Given the description of an element on the screen output the (x, y) to click on. 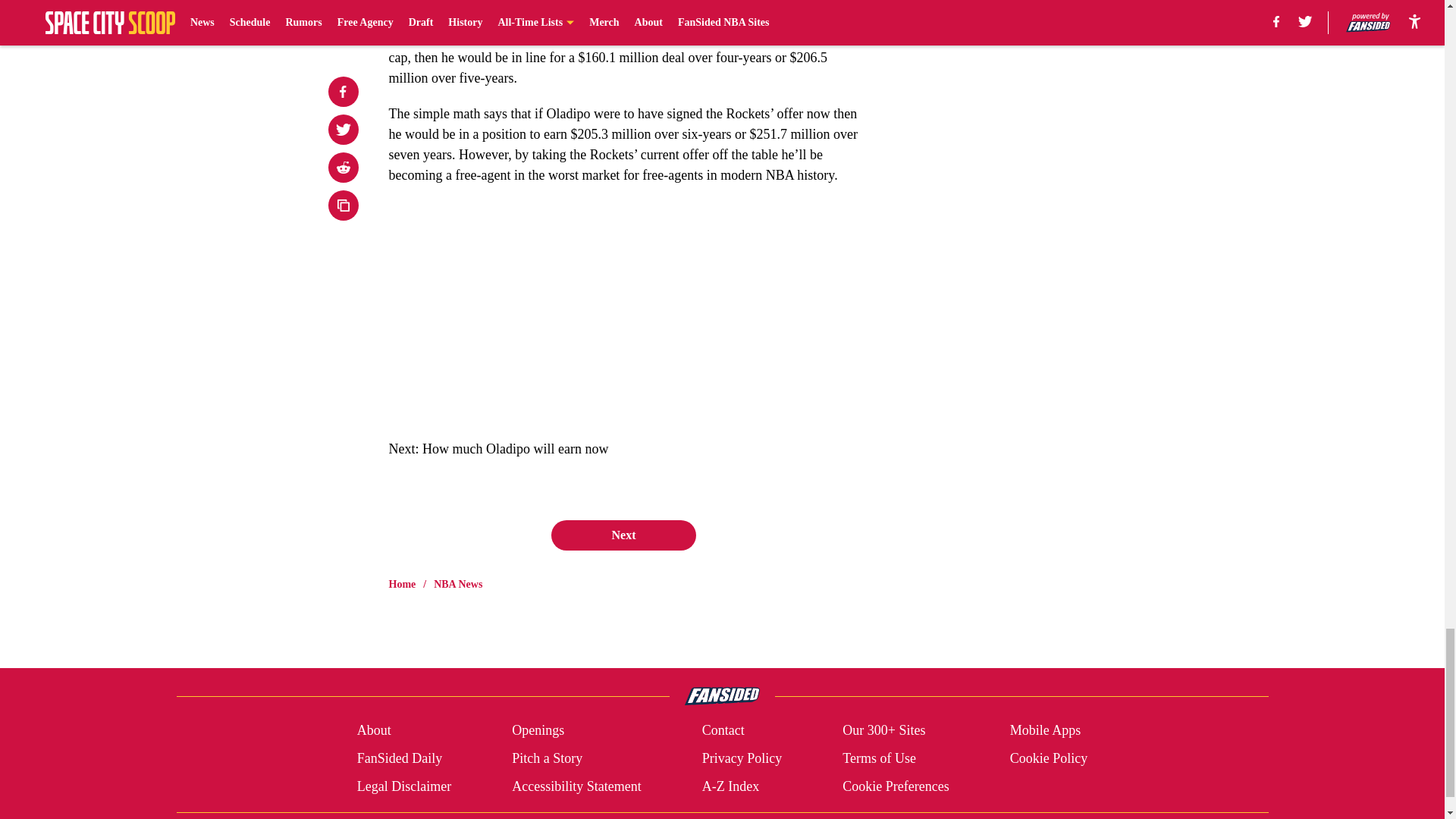
Next (622, 535)
NBA News (457, 584)
About (373, 730)
Home (401, 584)
Openings (538, 730)
